Given the description of an element on the screen output the (x, y) to click on. 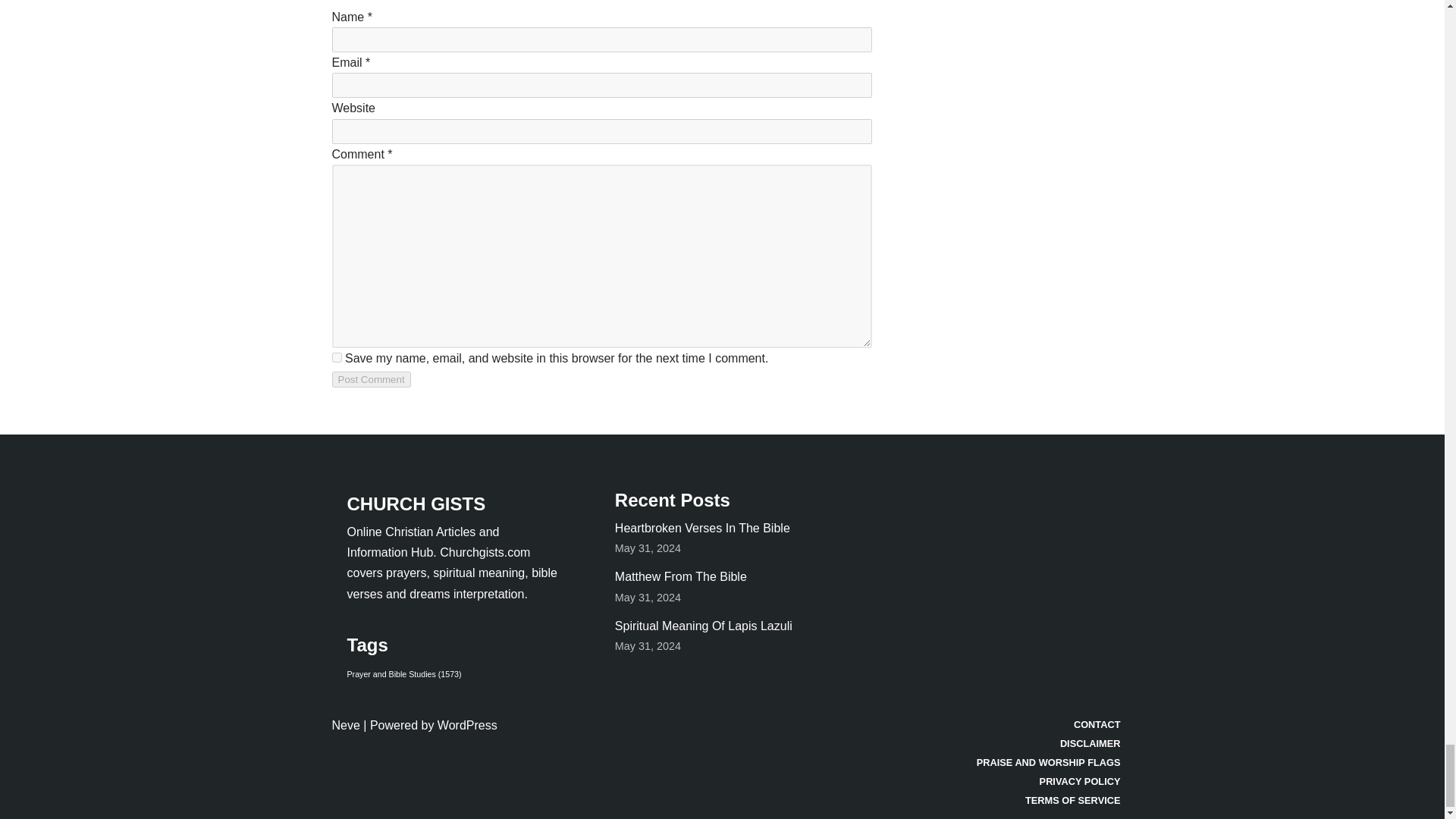
Post Comment (370, 379)
Matthew From The Bible (680, 576)
yes (336, 357)
Heartbroken Verses In The Bible (702, 527)
Post Comment (370, 379)
